Given the description of an element on the screen output the (x, y) to click on. 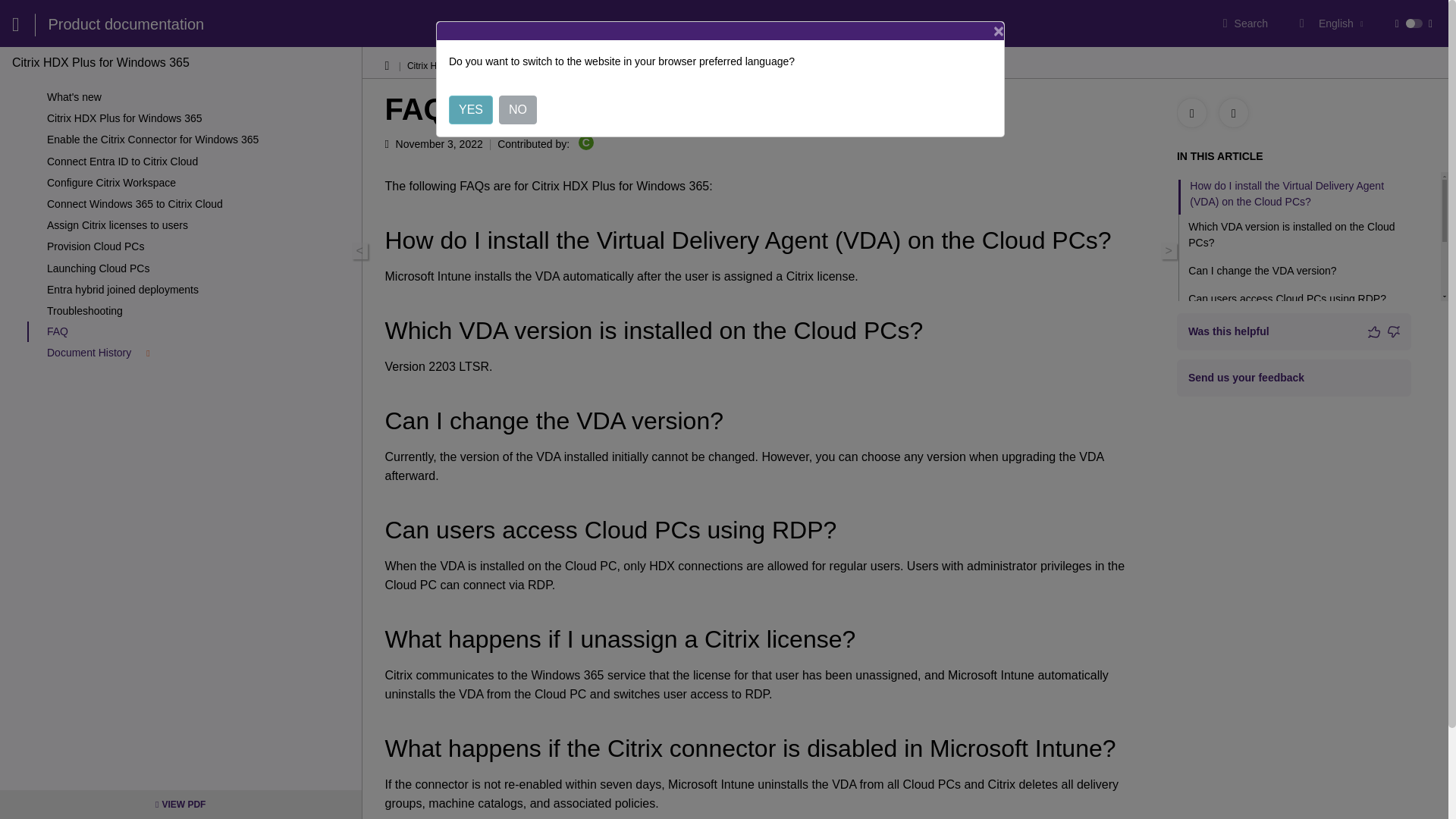
Configure Citrix Workspace (200, 182)
Connect Entra ID to Citrix Cloud (200, 161)
Product documentation (126, 24)
VIEW PDF (180, 804)
Enable the Citrix Connector for Windows 365 (200, 139)
Assign Citrix licenses to users (200, 224)
Document History (200, 352)
Entra hybrid joined deployments (200, 289)
Troubleshooting (200, 310)
Search (1245, 23)
